Given the description of an element on the screen output the (x, y) to click on. 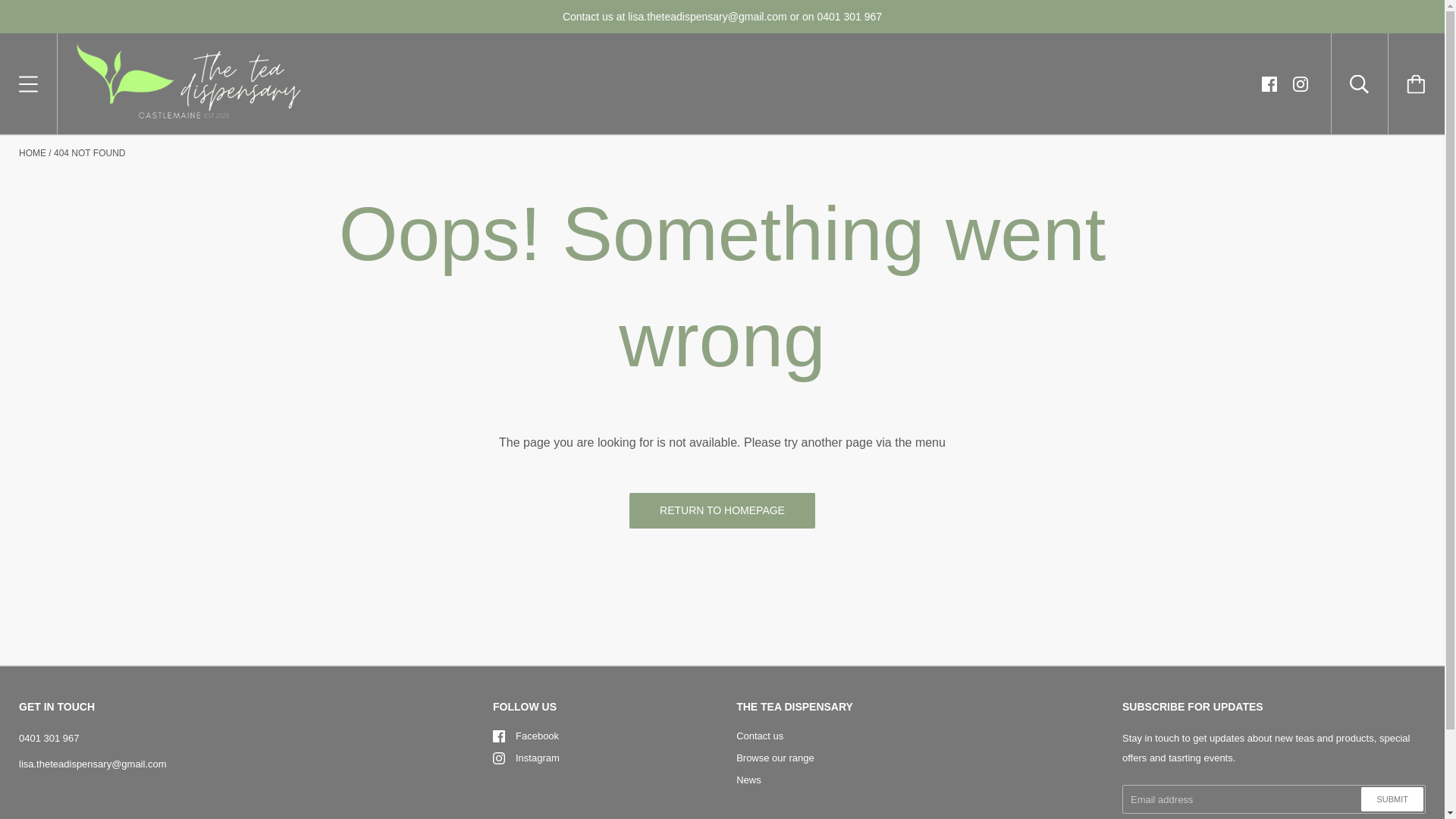
Instagram Instagram (526, 757)
Instagram (499, 758)
Facebook Facebook (526, 736)
RETURN TO HOMEPAGE (721, 510)
News (748, 779)
HOME (32, 153)
Facebook (499, 736)
Browse our range (774, 757)
SUBMIT (1392, 799)
Contact us (759, 736)
